Given the description of an element on the screen output the (x, y) to click on. 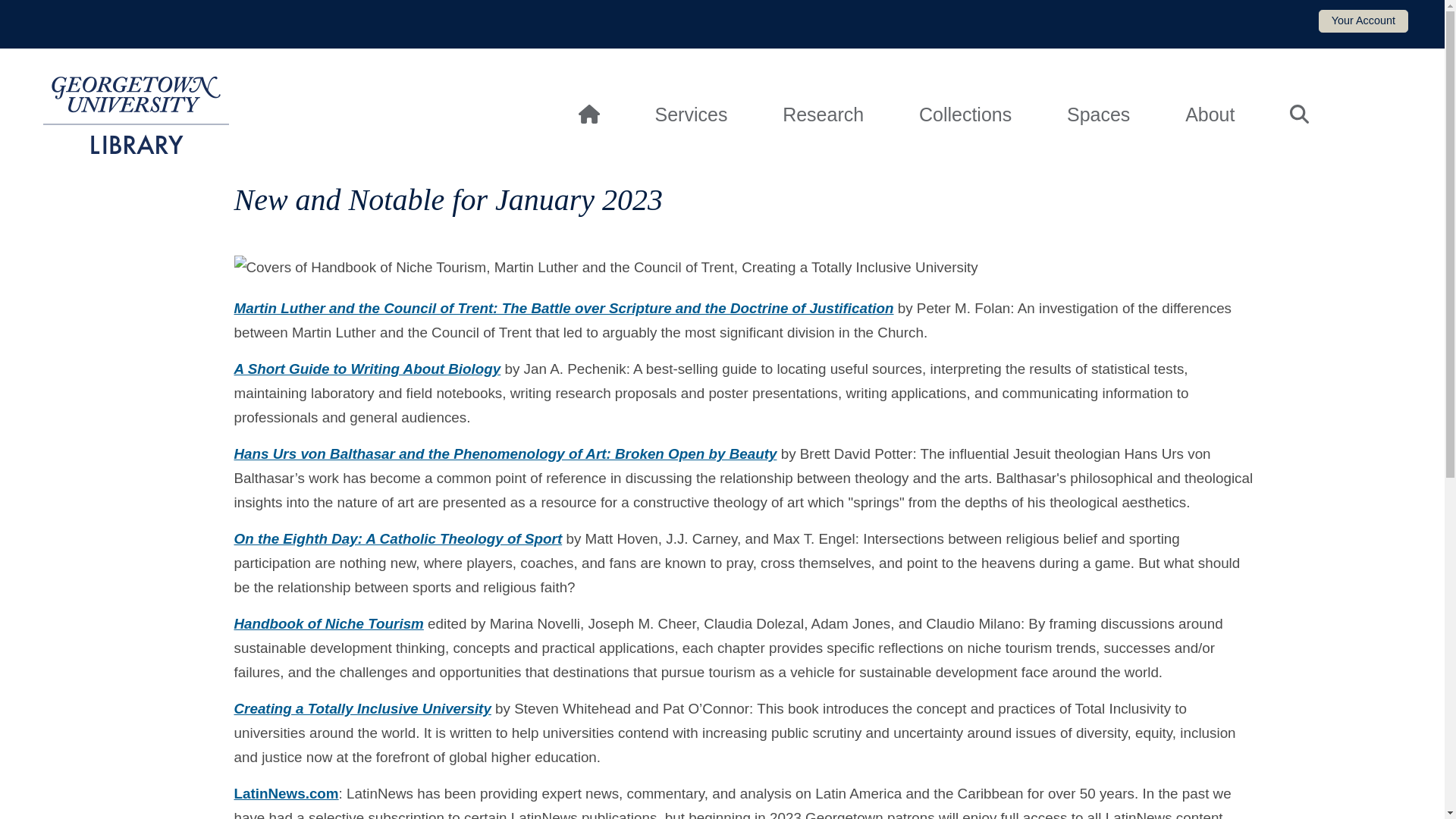
Collections (964, 115)
Spaces (1098, 115)
Research (822, 115)
Your Account (1363, 20)
Home (135, 115)
Services (691, 115)
